Given the description of an element on the screen output the (x, y) to click on. 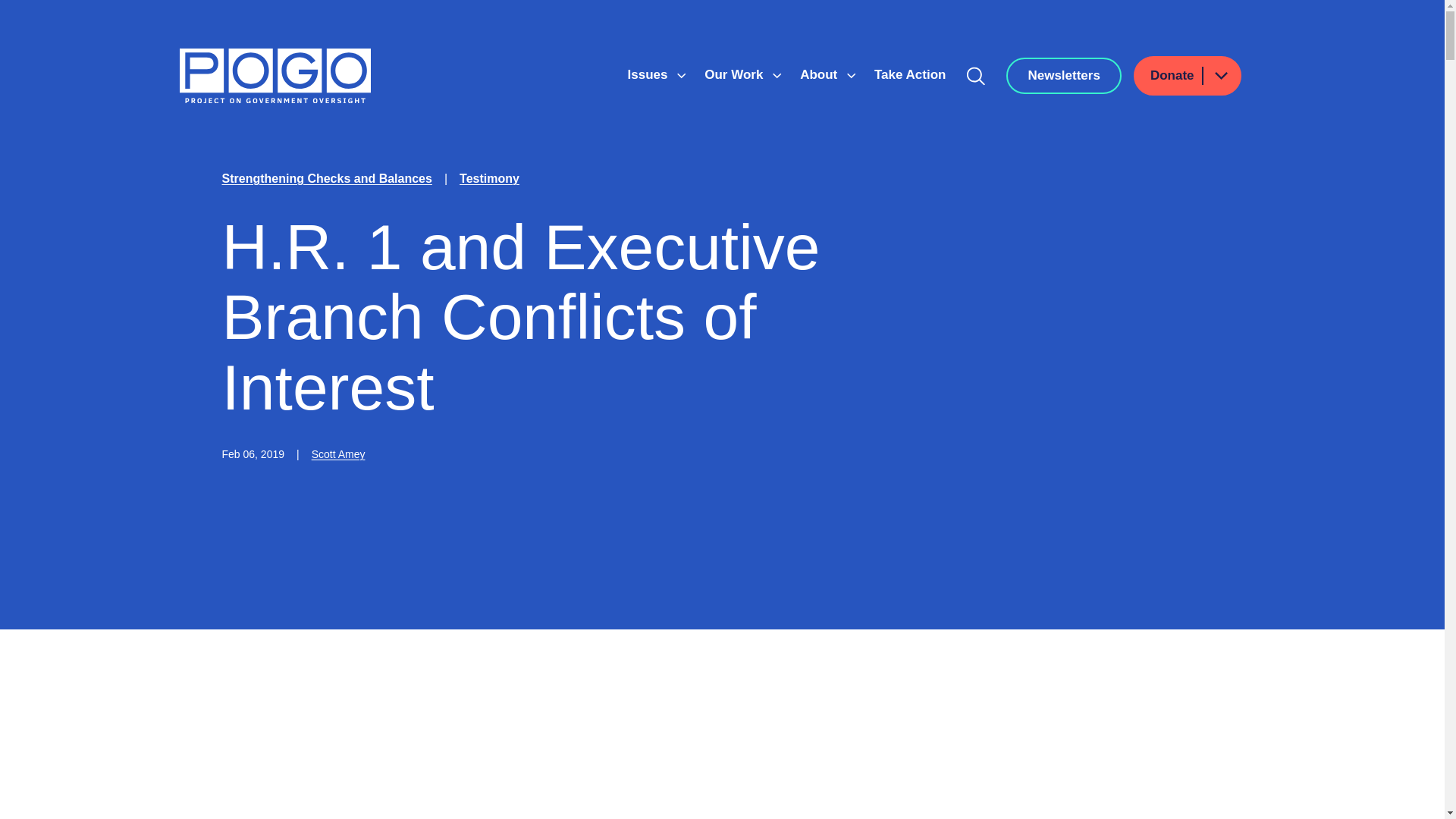
About (820, 74)
Donate (1187, 75)
Our Work (735, 74)
Home (274, 75)
Newsletters (1063, 75)
Take Action (909, 74)
Show submenu for Donate (1220, 75)
Issues (649, 74)
Search (976, 75)
Show submenu for Issues (681, 75)
